Given the description of an element on the screen output the (x, y) to click on. 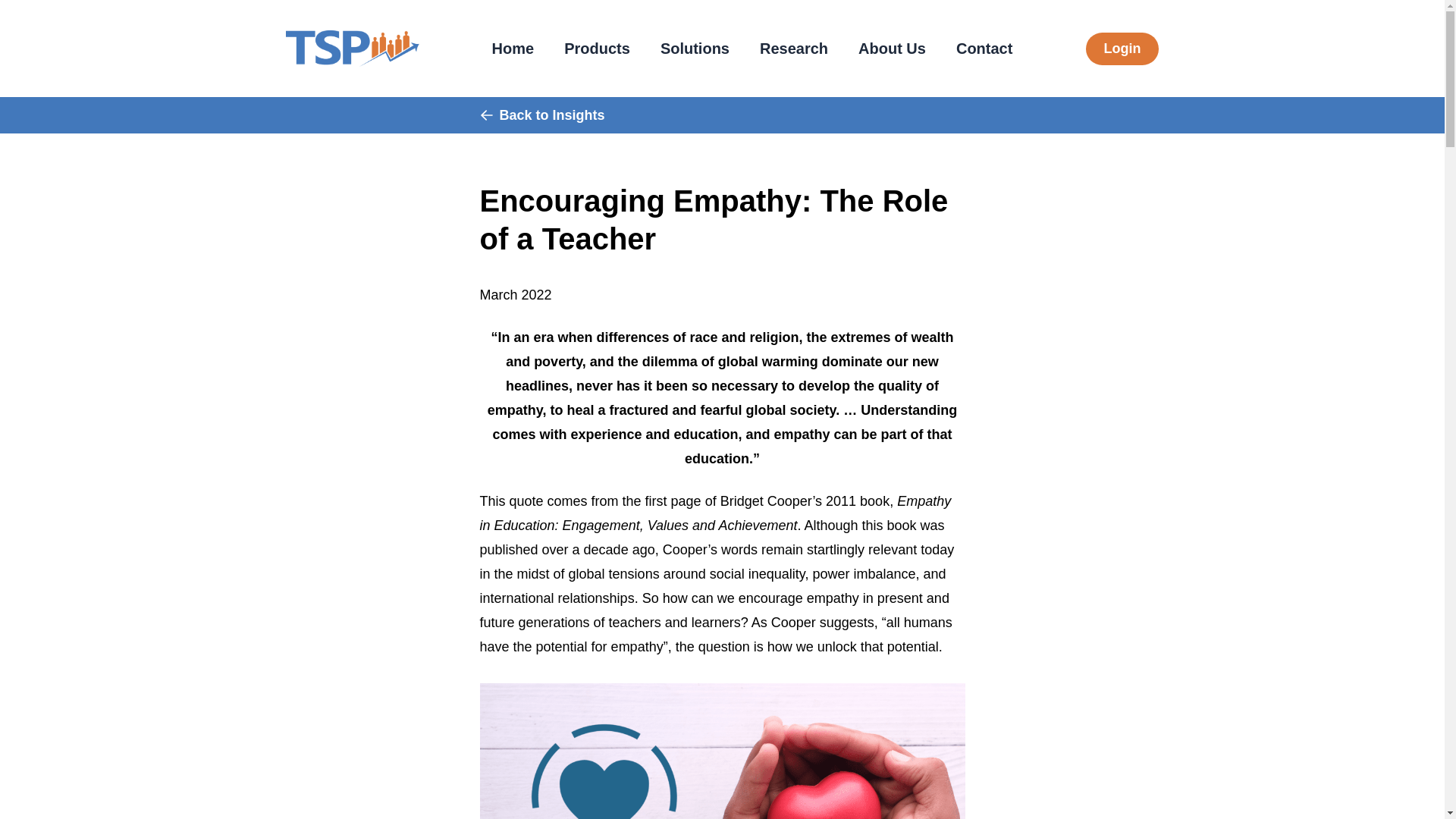
Solutions (694, 48)
Contact (984, 48)
Login (1122, 47)
About Us (891, 48)
Products (596, 48)
Homepage (352, 48)
Back to Insights (541, 115)
Research (794, 48)
Home (513, 48)
